Given the description of an element on the screen output the (x, y) to click on. 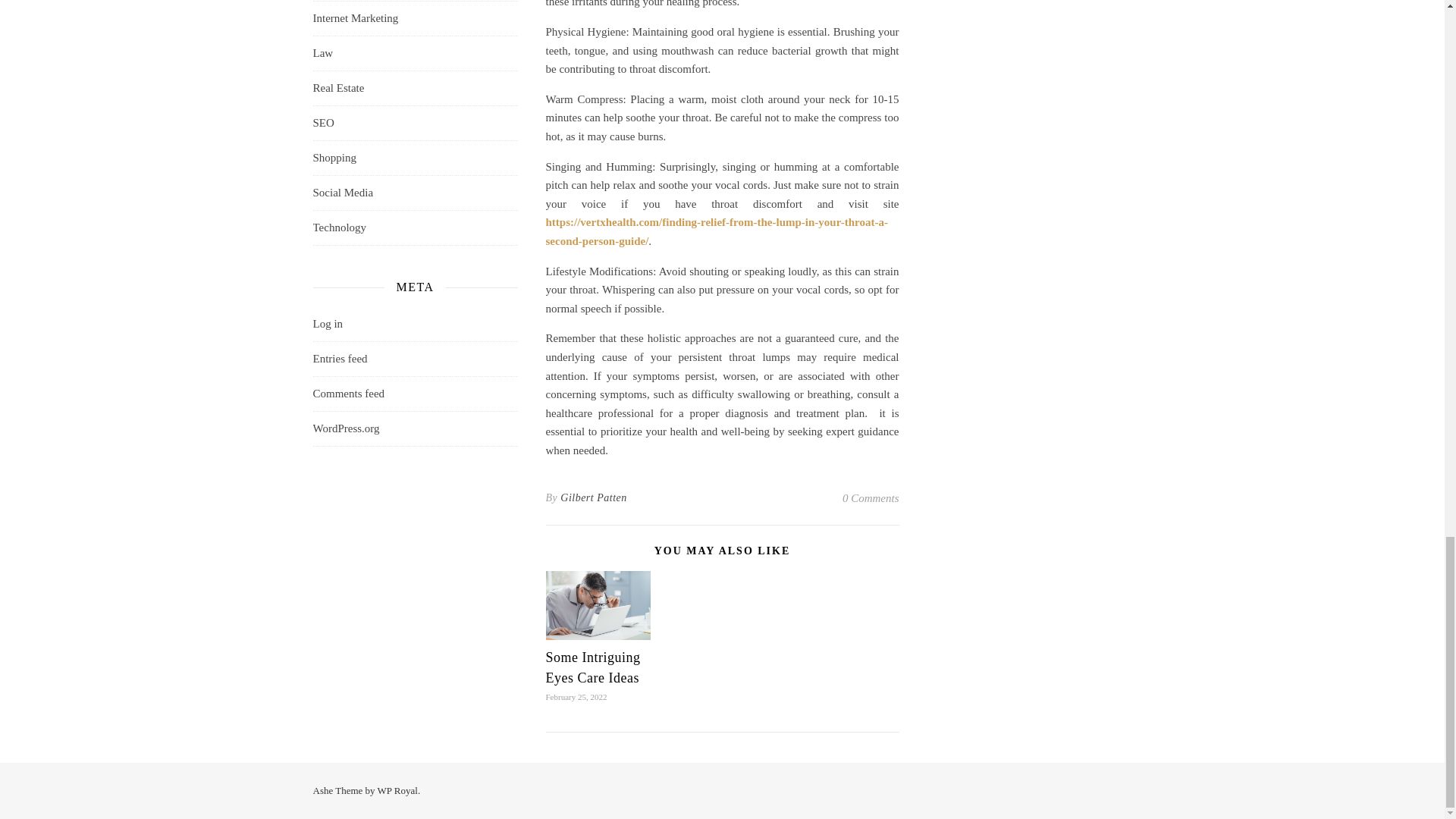
Posts by Gilbert Patten (593, 497)
